Given the description of an element on the screen output the (x, y) to click on. 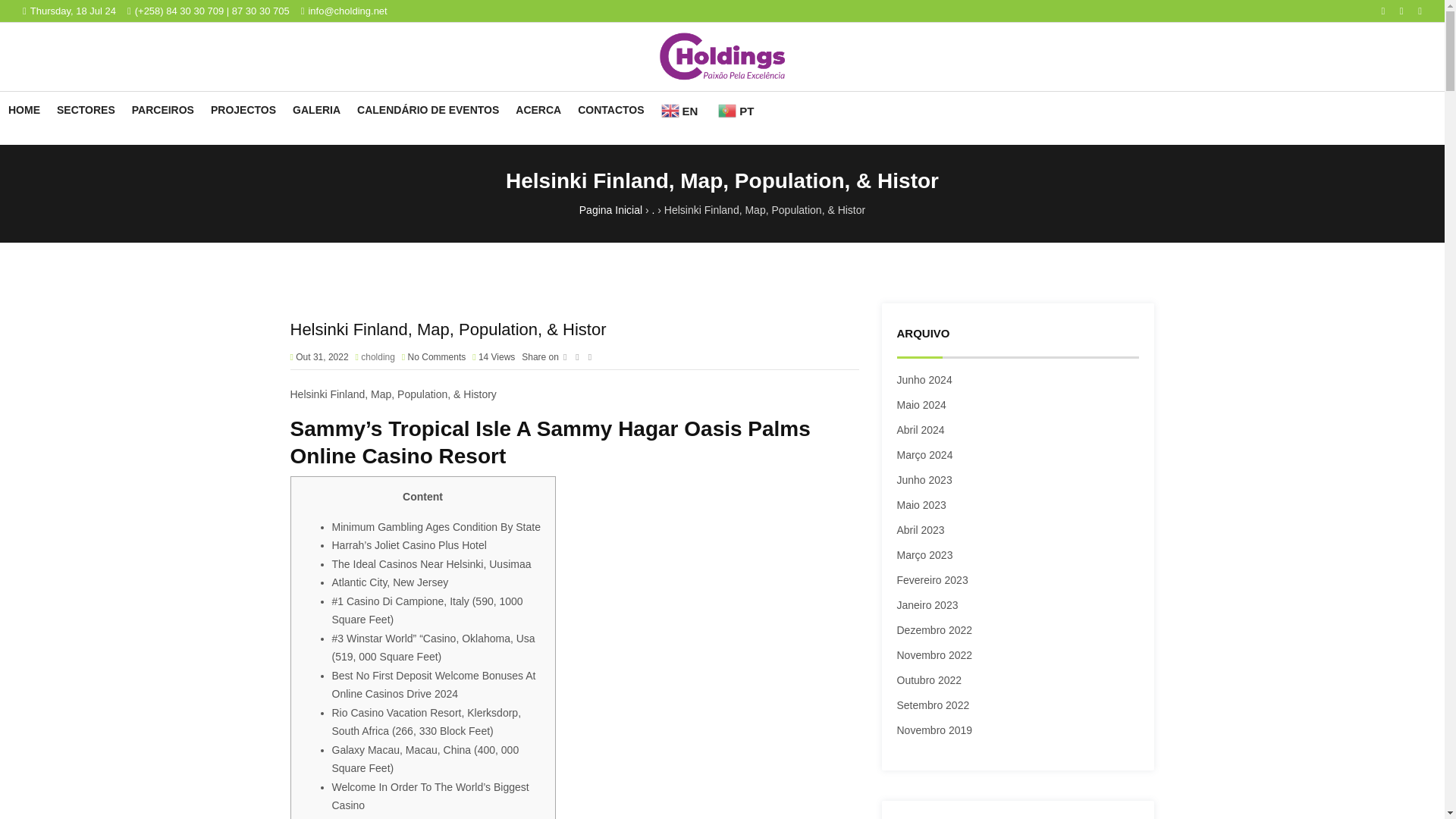
EN (681, 110)
ACERCA (537, 109)
HOME (24, 109)
GALERIA (316, 109)
PT (737, 110)
Choldings Lda. (721, 56)
SECTORES (85, 109)
PROJECTOS (242, 109)
CONTACTOS (610, 109)
English (681, 110)
PARCEIROS (162, 109)
